Given the description of an element on the screen output the (x, y) to click on. 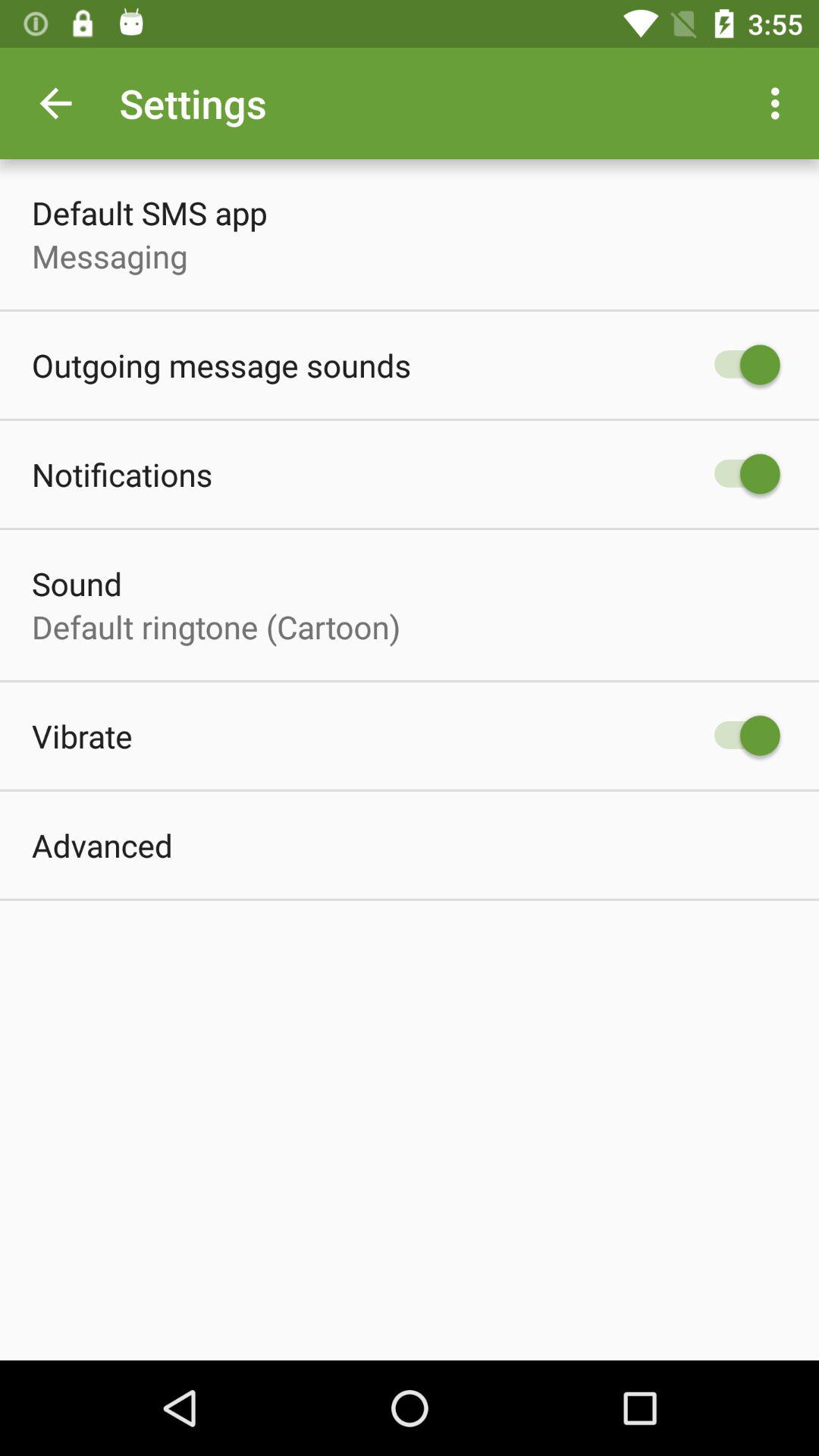
scroll to default sms app (149, 212)
